Given the description of an element on the screen output the (x, y) to click on. 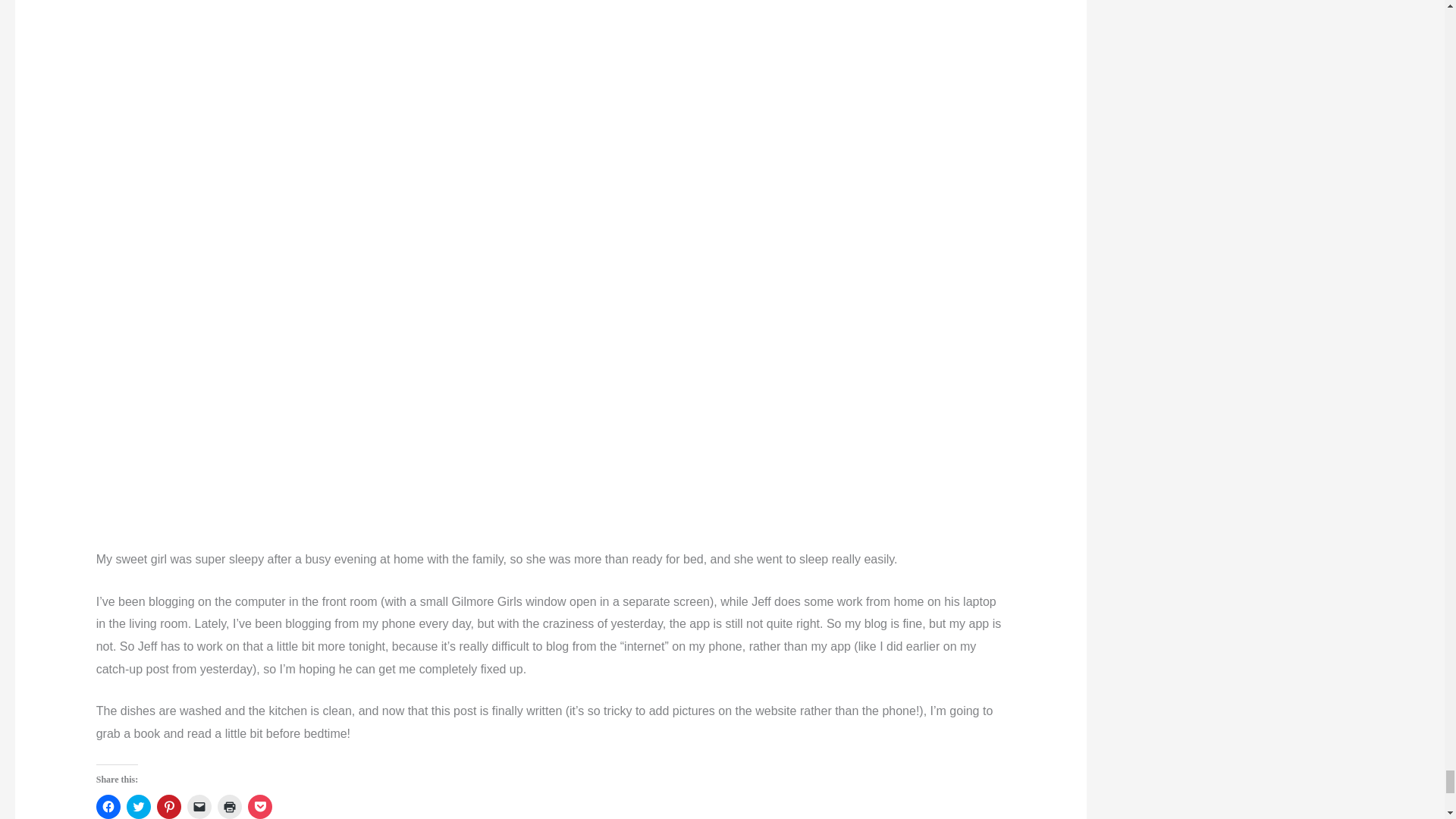
Click to share on Pinterest (168, 806)
Click to email a link to a friend (199, 806)
Click to share on Pocket (259, 806)
Click to print (228, 806)
Click to share on Facebook (108, 806)
Click to share on Twitter (138, 806)
